Given the description of an element on the screen output the (x, y) to click on. 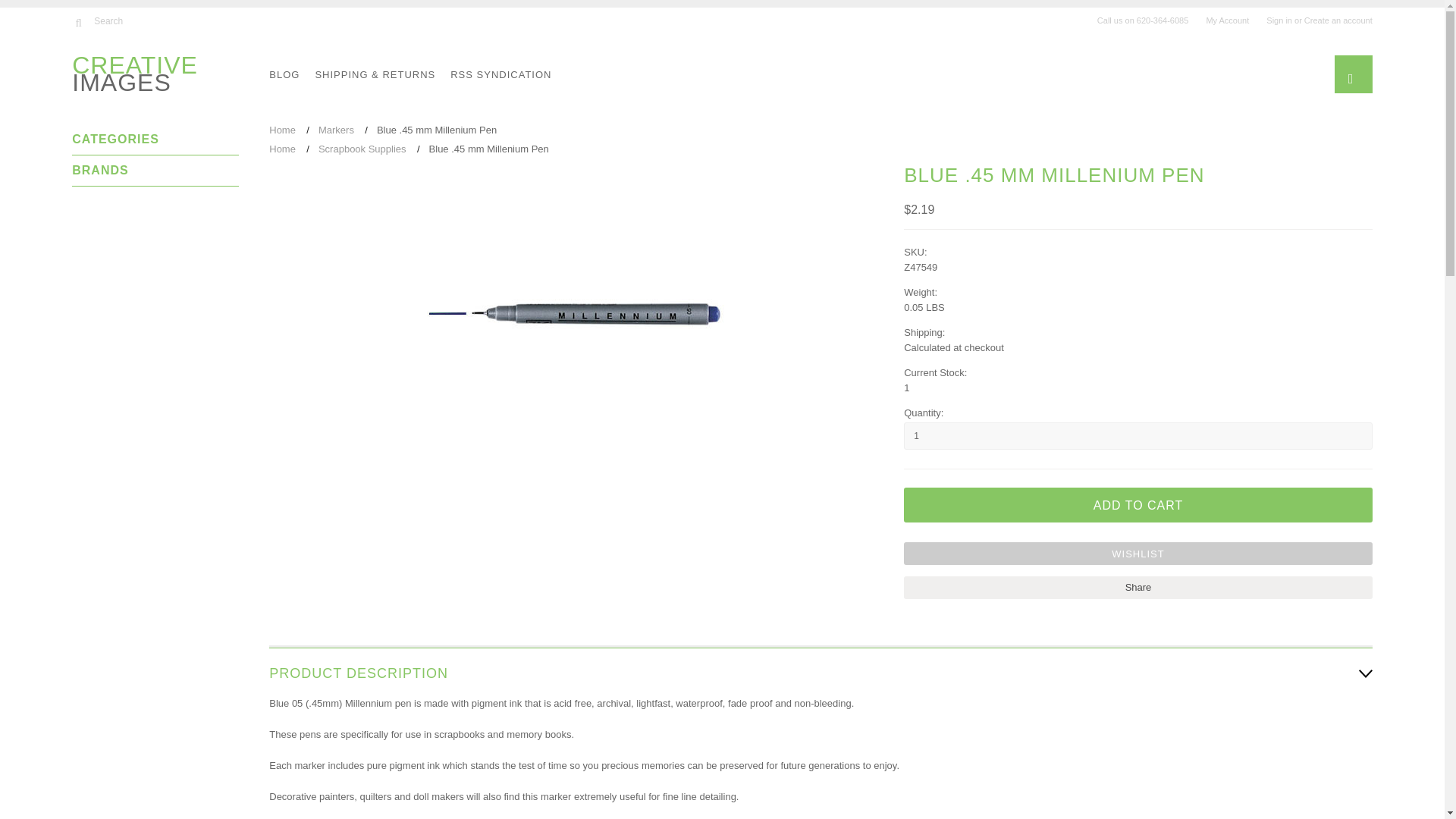
View Cart (1354, 74)
Search (145, 20)
View Cart (1351, 77)
Add to Wish List (1138, 553)
Image 1 (571, 313)
Add To Cart (1138, 504)
1 (1138, 435)
Search (77, 21)
Wishlist (1138, 553)
